Given the description of an element on the screen output the (x, y) to click on. 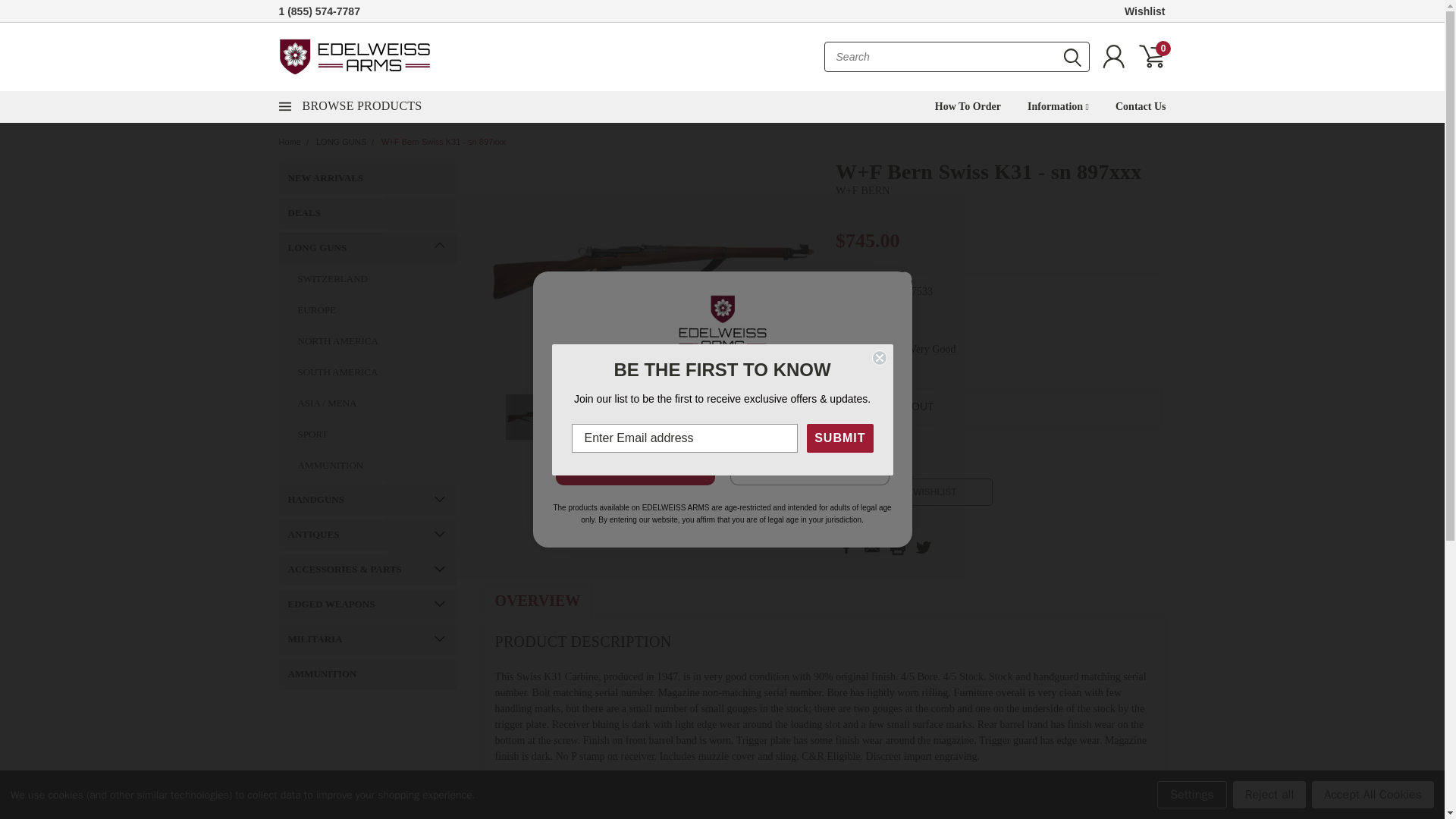
Wishlist (1145, 10)
Email (871, 547)
0 (1151, 56)
Facebook (845, 547)
Edelweiss Arms (354, 56)
